Given the description of an element on the screen output the (x, y) to click on. 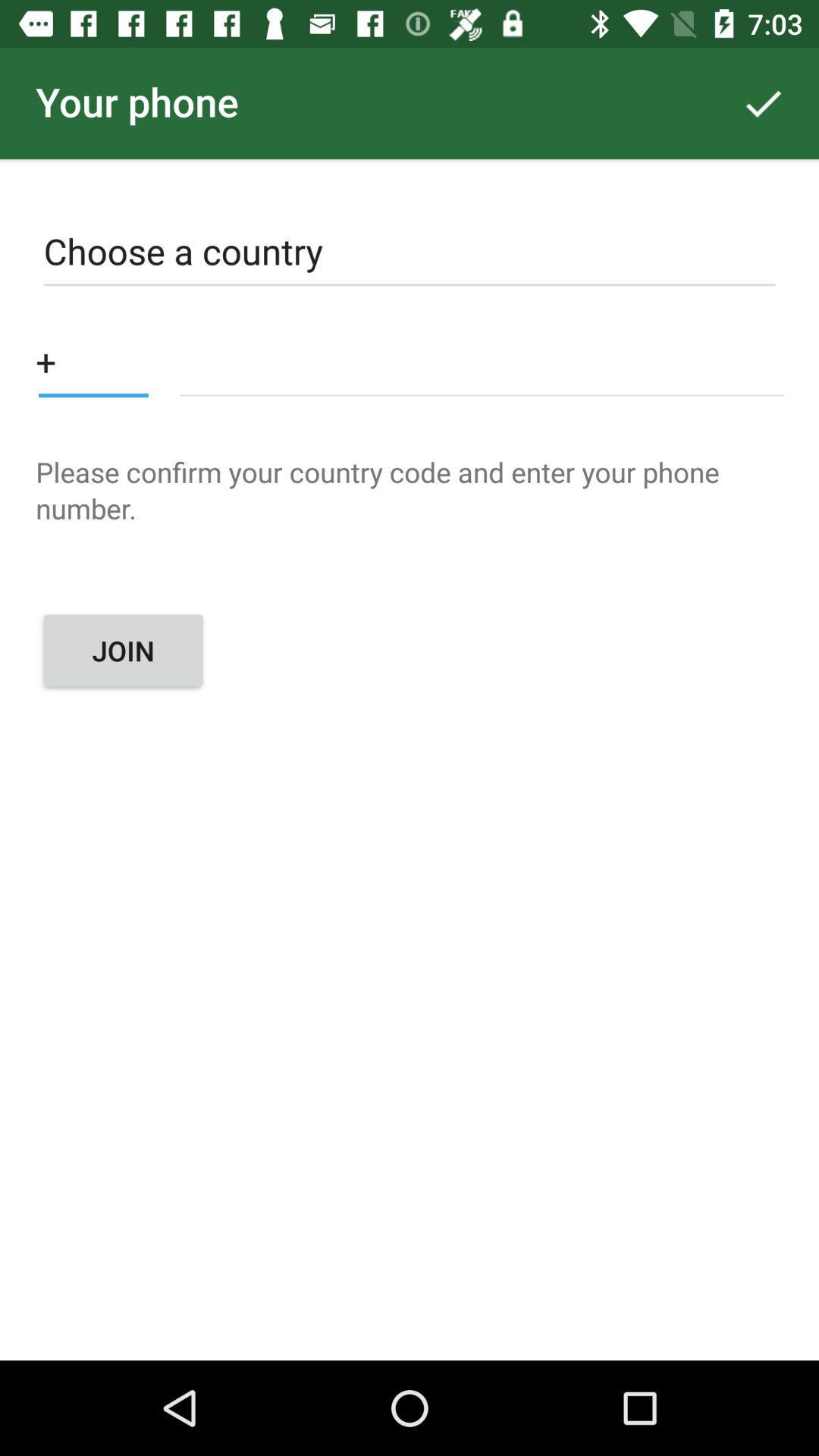
launch the icon above please confirm your item (481, 361)
